Given the description of an element on the screen output the (x, y) to click on. 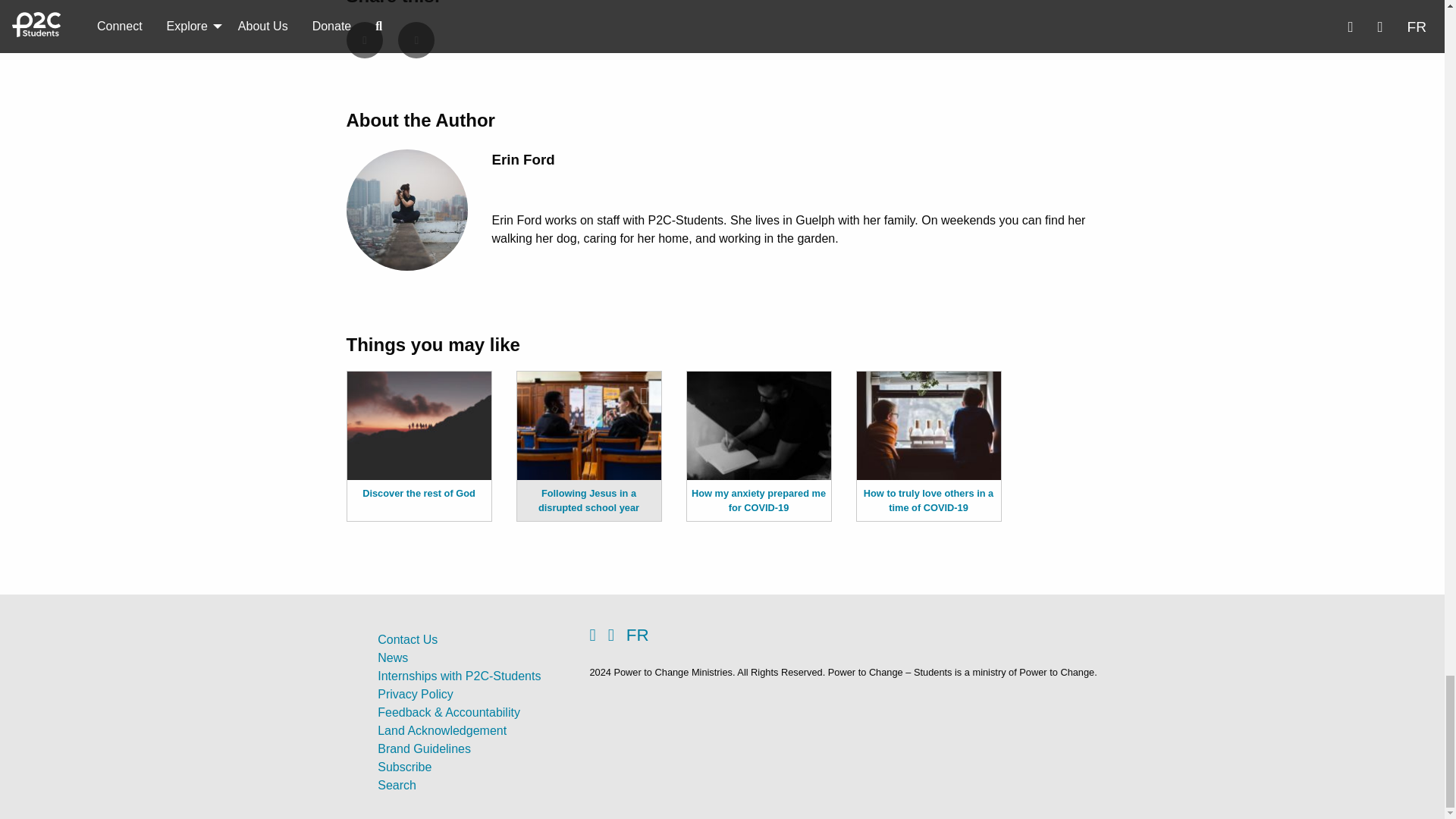
Facebook (363, 40)
Facebook (598, 635)
Twitter (415, 40)
Instagram (617, 635)
